Given the description of an element on the screen output the (x, y) to click on. 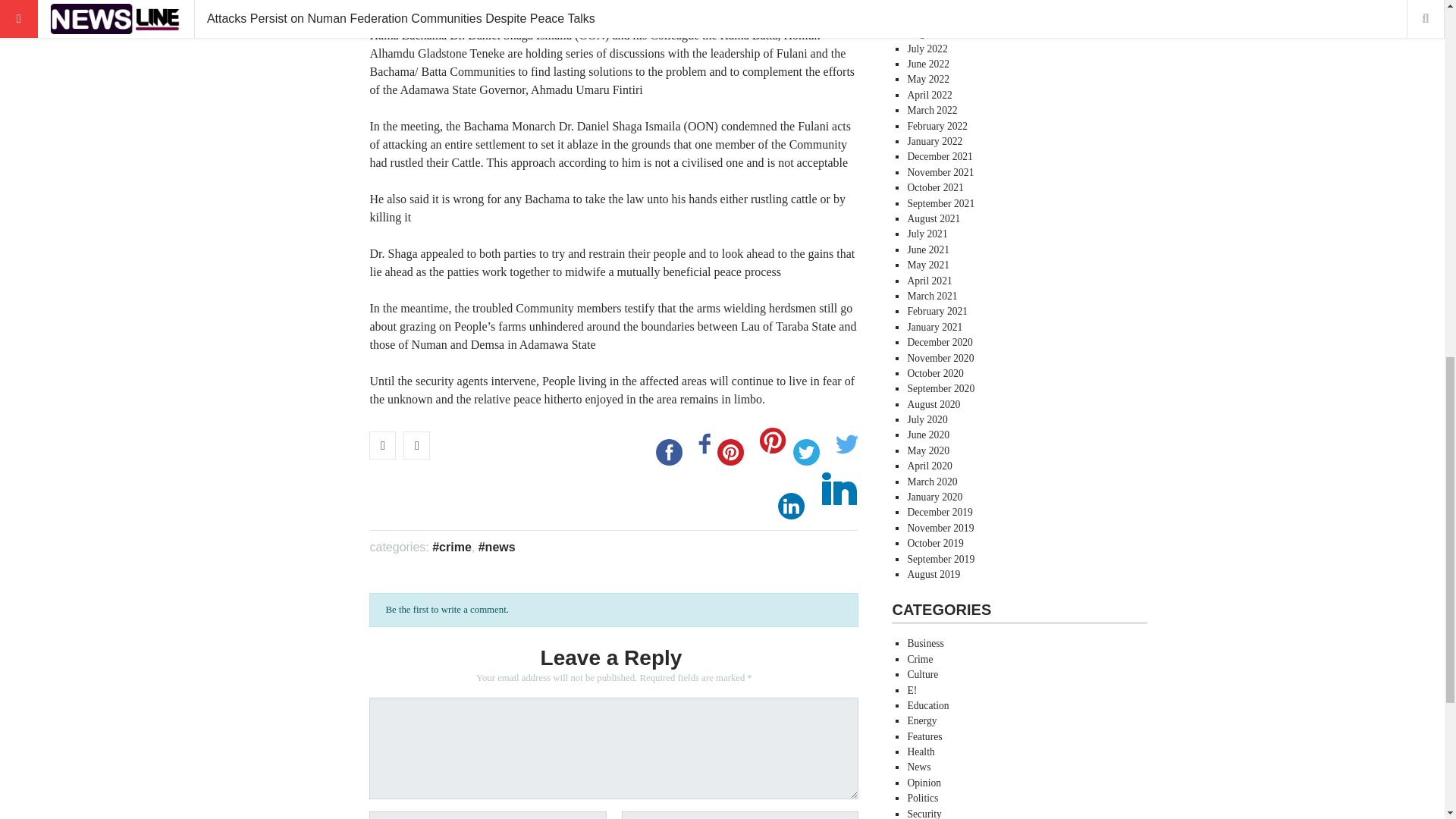
October 2021 (934, 187)
facebook (668, 452)
February 2022 (937, 125)
June 2022 (928, 63)
October 2022 (934, 4)
twitter (806, 452)
linkedin (791, 506)
January 2022 (934, 141)
May 2022 (928, 79)
March 2022 (931, 110)
September 2022 (940, 17)
July 2022 (927, 48)
December 2021 (939, 156)
August 2022 (933, 32)
April 2022 (929, 94)
